Given the description of an element on the screen output the (x, y) to click on. 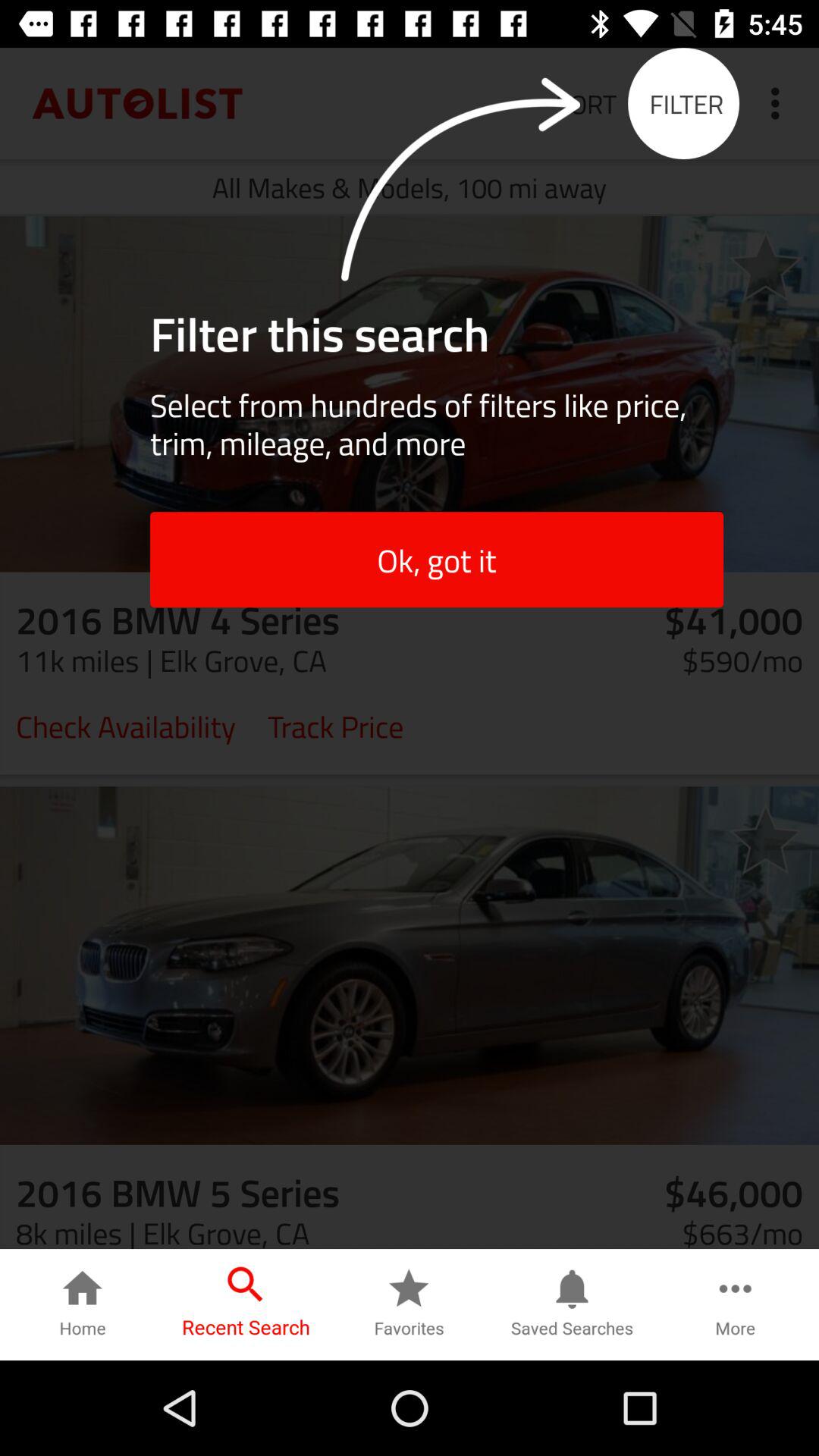
turn on the icon next to the check availability (335, 725)
